Given the description of an element on the screen output the (x, y) to click on. 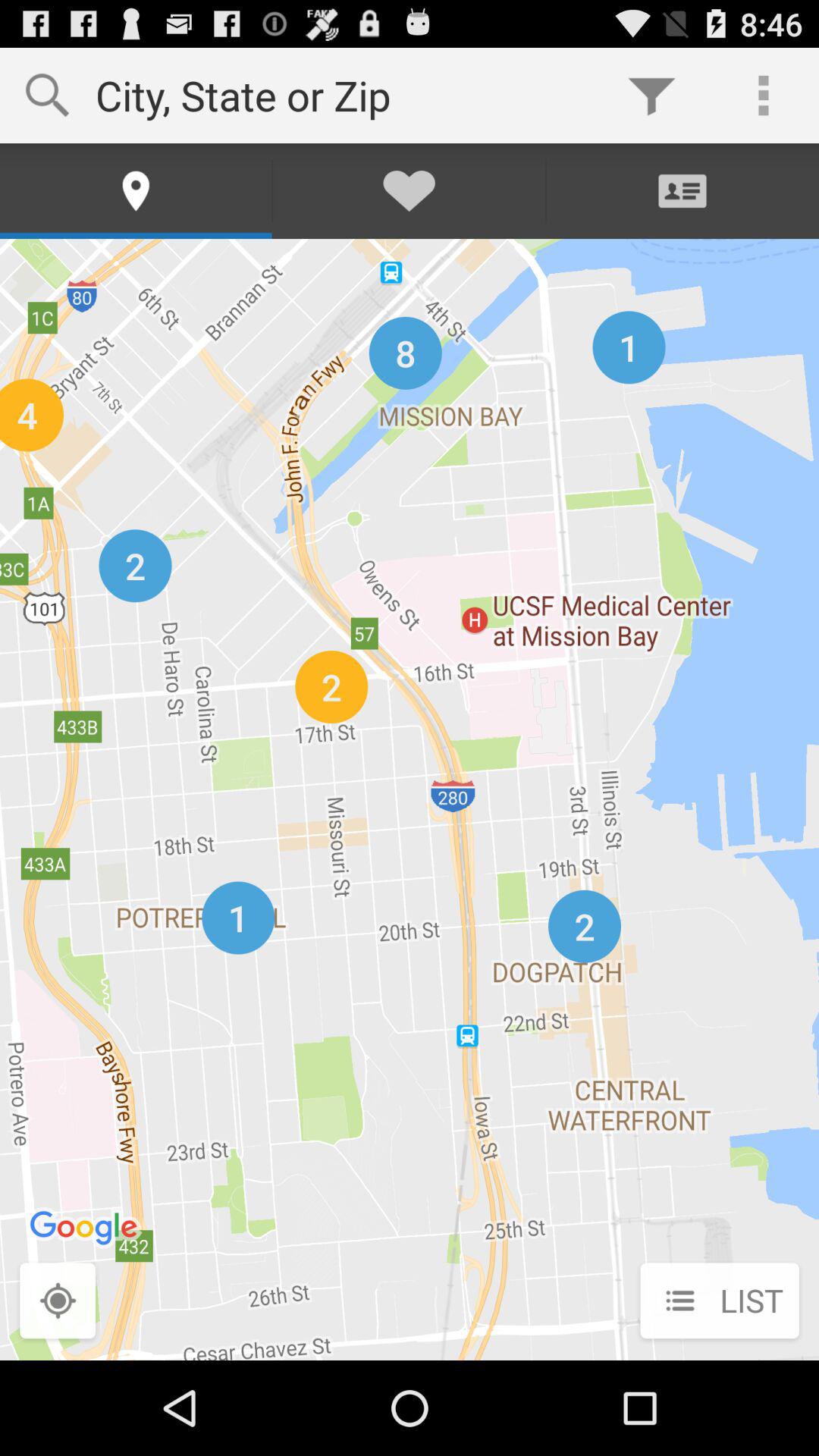
press list at the bottom right corner (719, 1302)
